Given the description of an element on the screen output the (x, y) to click on. 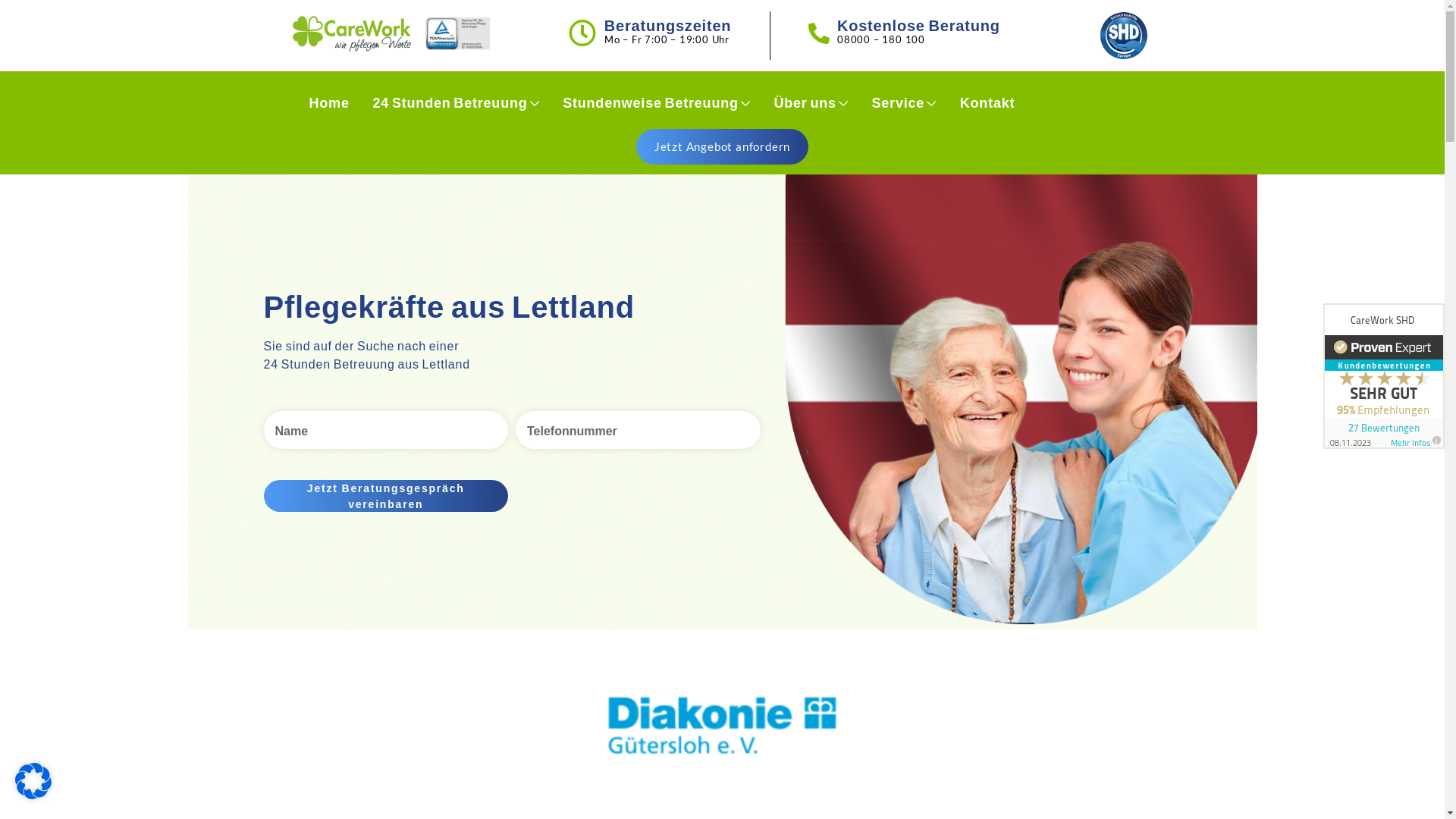
Home Element type: text (328, 102)
Kontakt Element type: text (987, 102)
Jetzt Angebot anfordern Element type: text (722, 146)
Service Element type: text (903, 102)
Stundenweise Betreuung Element type: text (656, 102)
24 Stunden Betreuung Element type: text (456, 102)
